Given the description of an element on the screen output the (x, y) to click on. 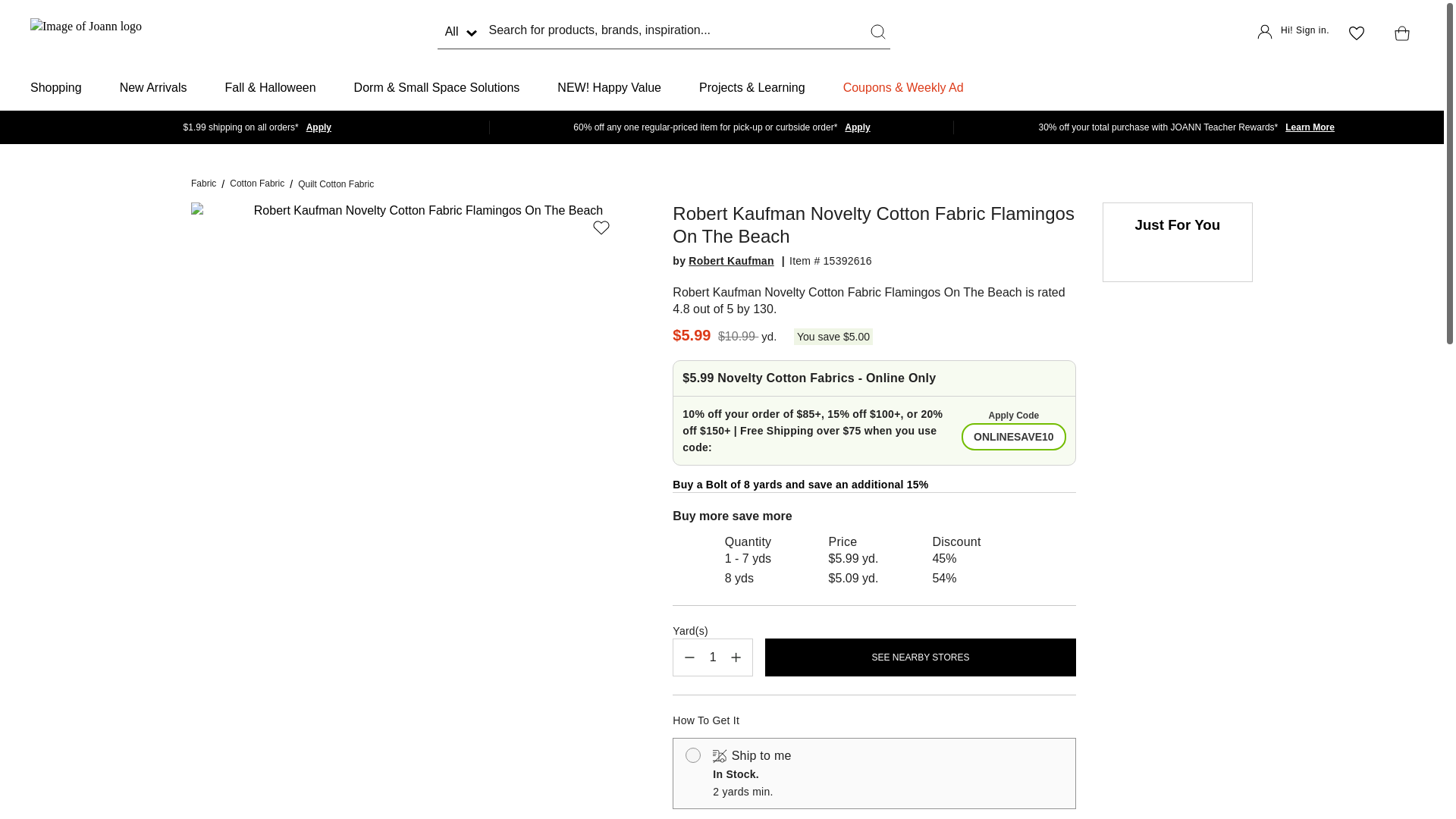
Hi! Sign in. (1293, 33)
New Arrivals (153, 87)
Favorites (1356, 33)
Hi! Sign in. (1293, 33)
NEW! Happy Value (608, 87)
Submit search (877, 32)
JO-ANN STORES, LLC Home (85, 33)
Fabric (202, 183)
Quilt Cotton Fabric (336, 184)
View Cart (1398, 33)
Cotton Fabric (256, 183)
Shopping (55, 87)
1 (712, 657)
